Given the description of an element on the screen output the (x, y) to click on. 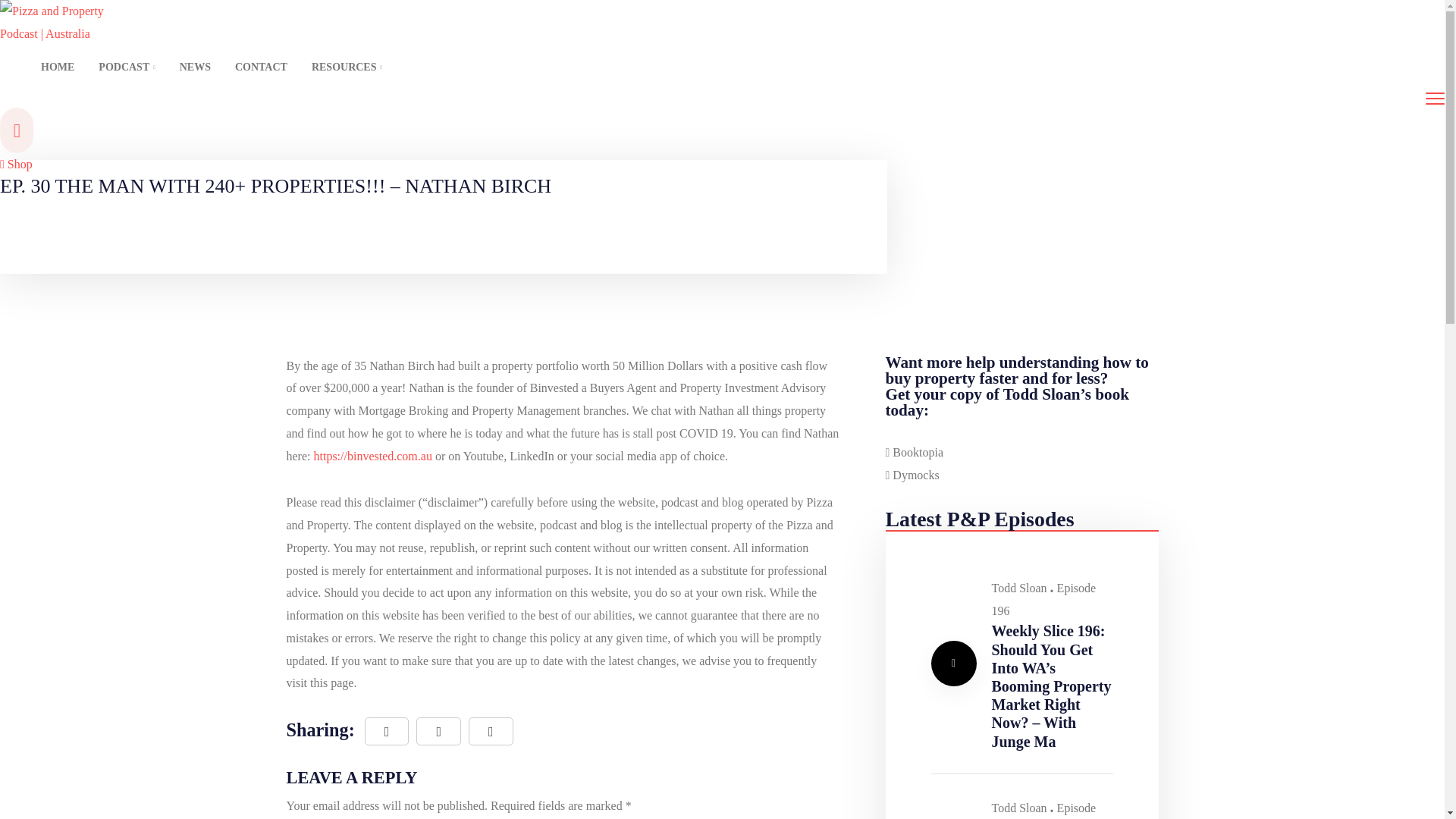
Shop (16, 164)
PODCAST (126, 67)
HOME (57, 67)
NEWS (194, 67)
Dymocks (912, 474)
CONTACT (261, 67)
RESOURCES (341, 67)
Booktopia (914, 451)
